Given the description of an element on the screen output the (x, y) to click on. 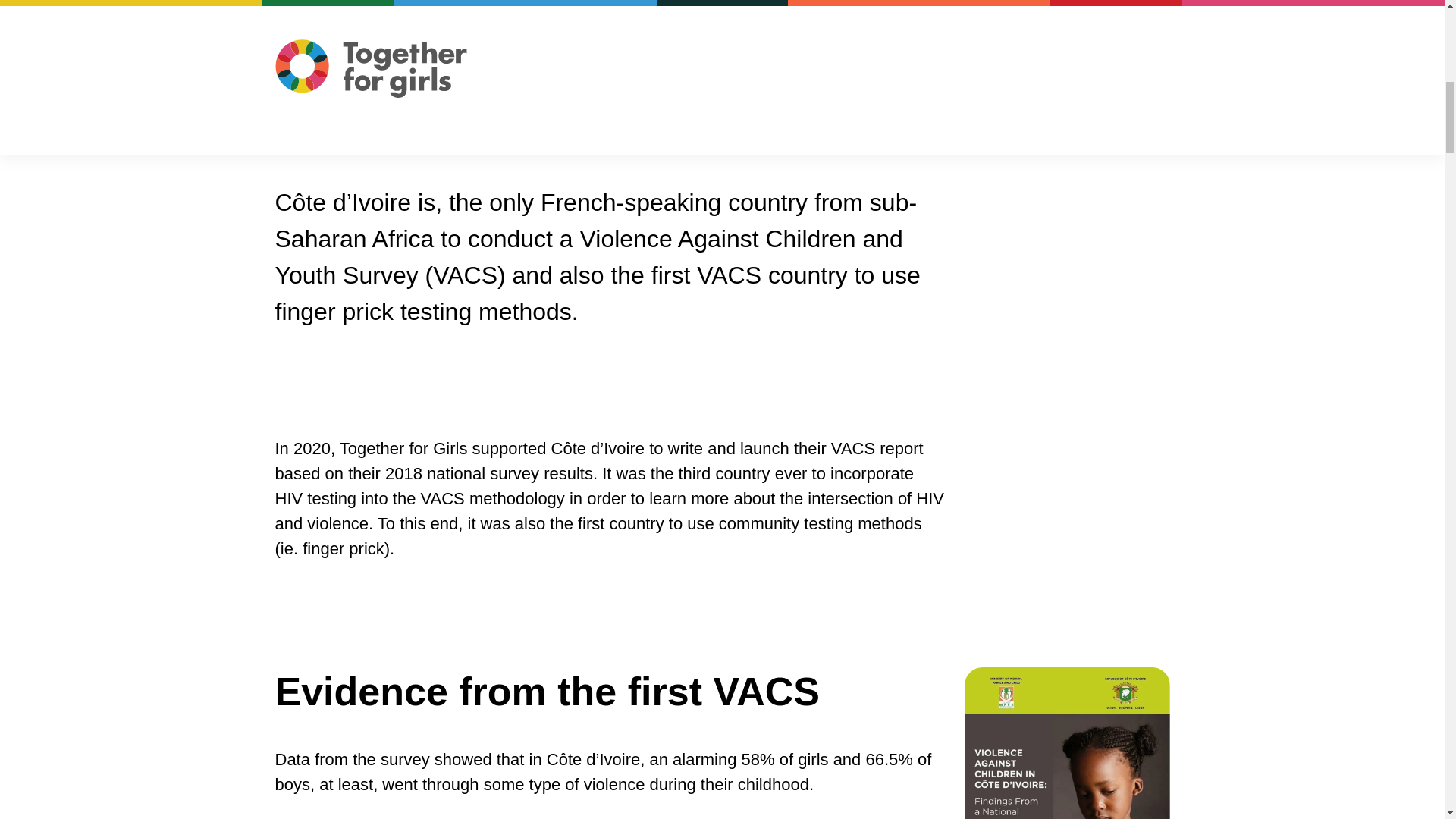
Share (326, 69)
